Given the description of an element on the screen output the (x, y) to click on. 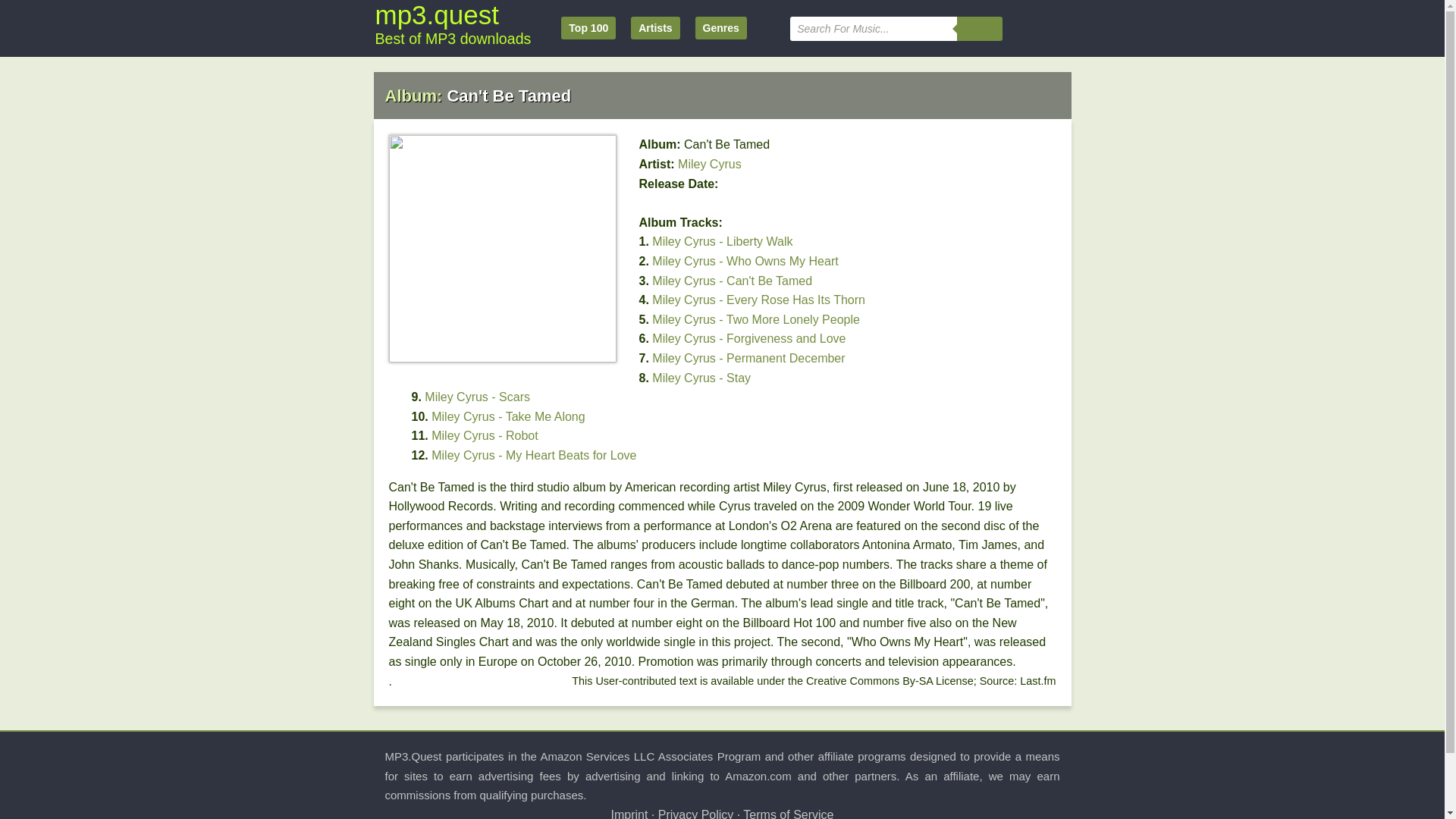
Top 100 (587, 27)
Privacy Policy (695, 813)
Miley Cyrus - Scars (477, 396)
Miley Cyrus - Who Owns My Heart (745, 260)
Privacy Policy (695, 813)
Miley Cyrus - Two More Lonely People (756, 318)
Miley Cyrus - Liberty Walk (722, 241)
Imprint (628, 813)
Terms of Service (787, 813)
mp3.quest (435, 14)
